Given the description of an element on the screen output the (x, y) to click on. 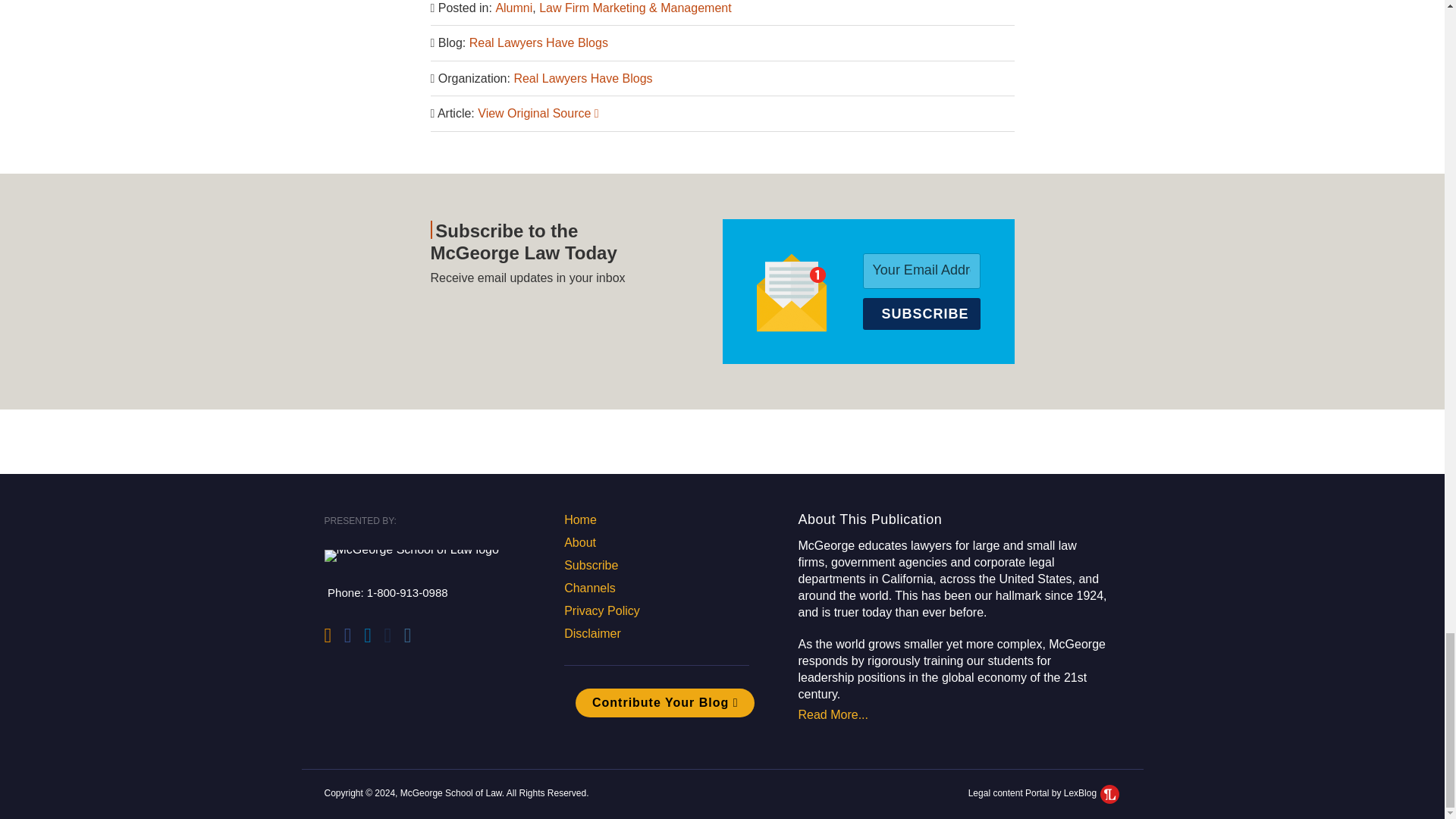
LexBlog Logo (1109, 793)
Home (580, 519)
Subscribe (590, 564)
About (579, 542)
SUBSCRIBE (921, 314)
View Original Source (537, 113)
Real Lawyers Have Blogs (538, 42)
Alumni (513, 7)
Real Lawyers Have Blogs (582, 78)
SUBSCRIBE (921, 314)
